Given the description of an element on the screen output the (x, y) to click on. 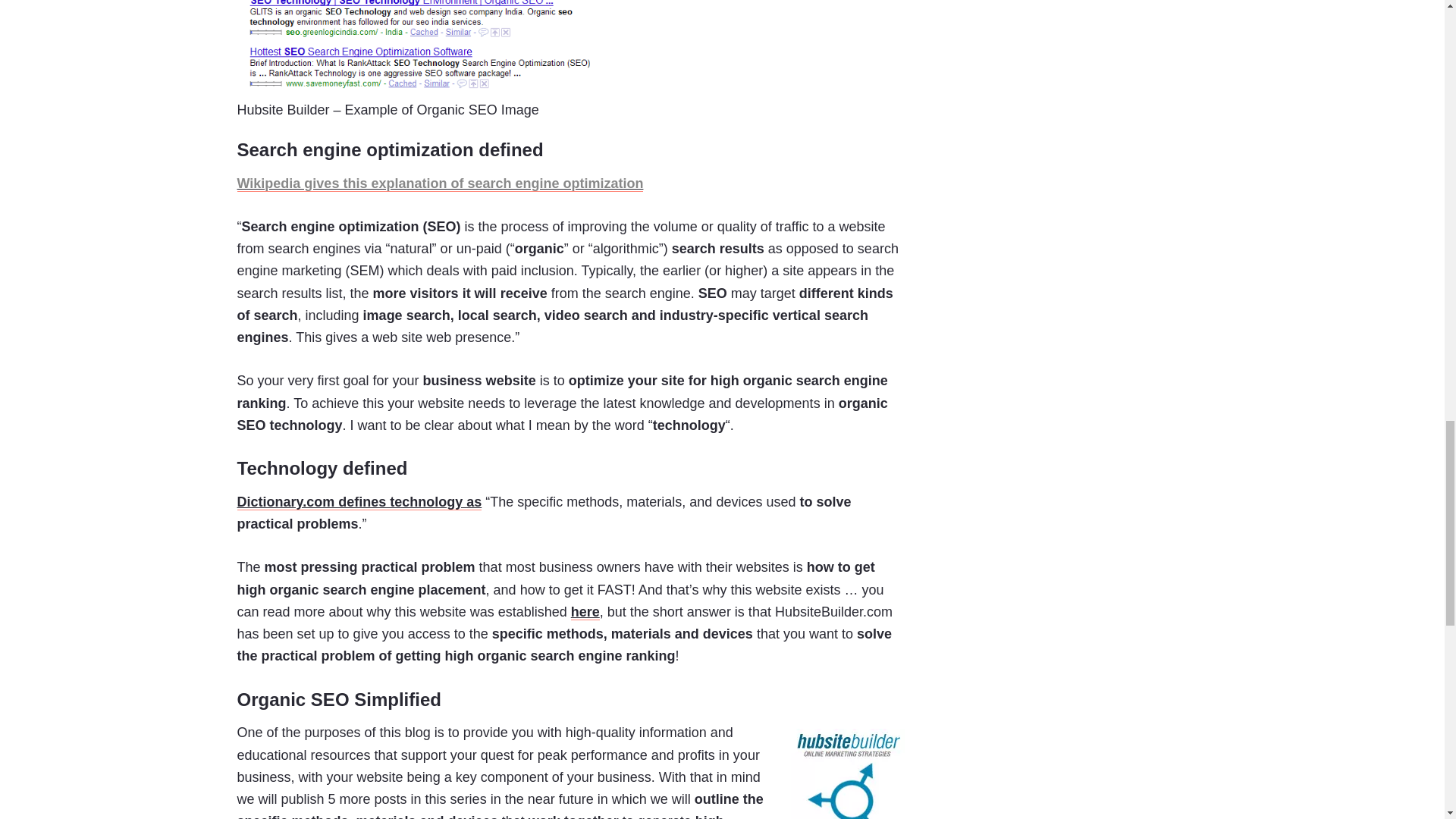
HubSite Builder - Dictionary.com defines Technology (358, 502)
Dictionary.com defines technology as (358, 502)
here (584, 611)
About HubSite Builder and Organic SEO Technology (584, 611)
HubSite Builder - Wikipedia defines SEO  (439, 183)
